Given the description of an element on the screen output the (x, y) to click on. 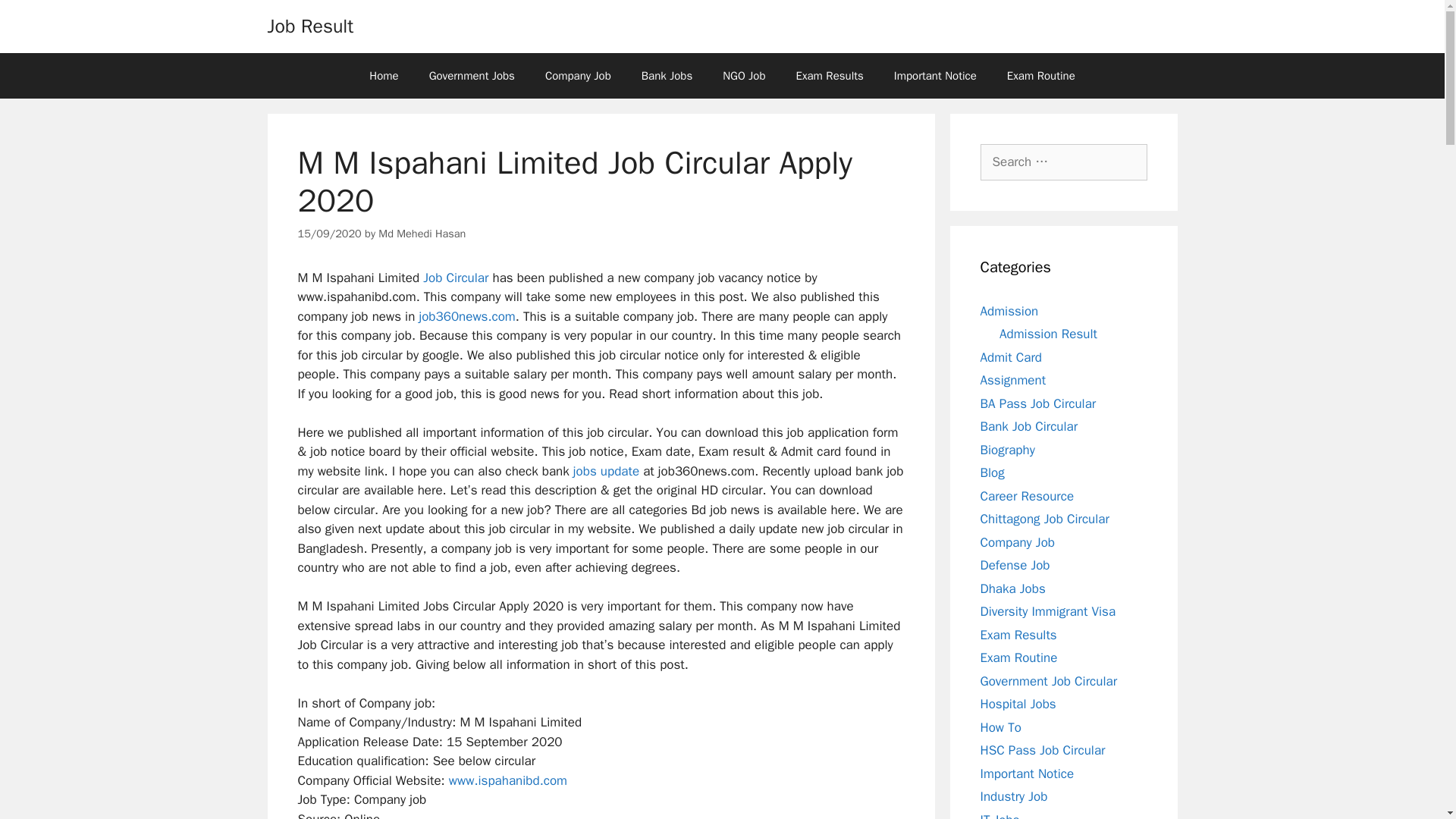
Bank Job Circular (1028, 426)
Search for: (1063, 162)
Admission Result (1047, 333)
Government Jobs (471, 75)
Job Result (309, 25)
Admission (1008, 311)
Bank Jobs (666, 75)
Home (383, 75)
Admit Card (1010, 356)
job360news.com (467, 316)
NGO Job (743, 75)
www.ispahanibd.com (507, 780)
Blog (991, 472)
Important Notice (935, 75)
Assignment (1012, 380)
